Given the description of an element on the screen output the (x, y) to click on. 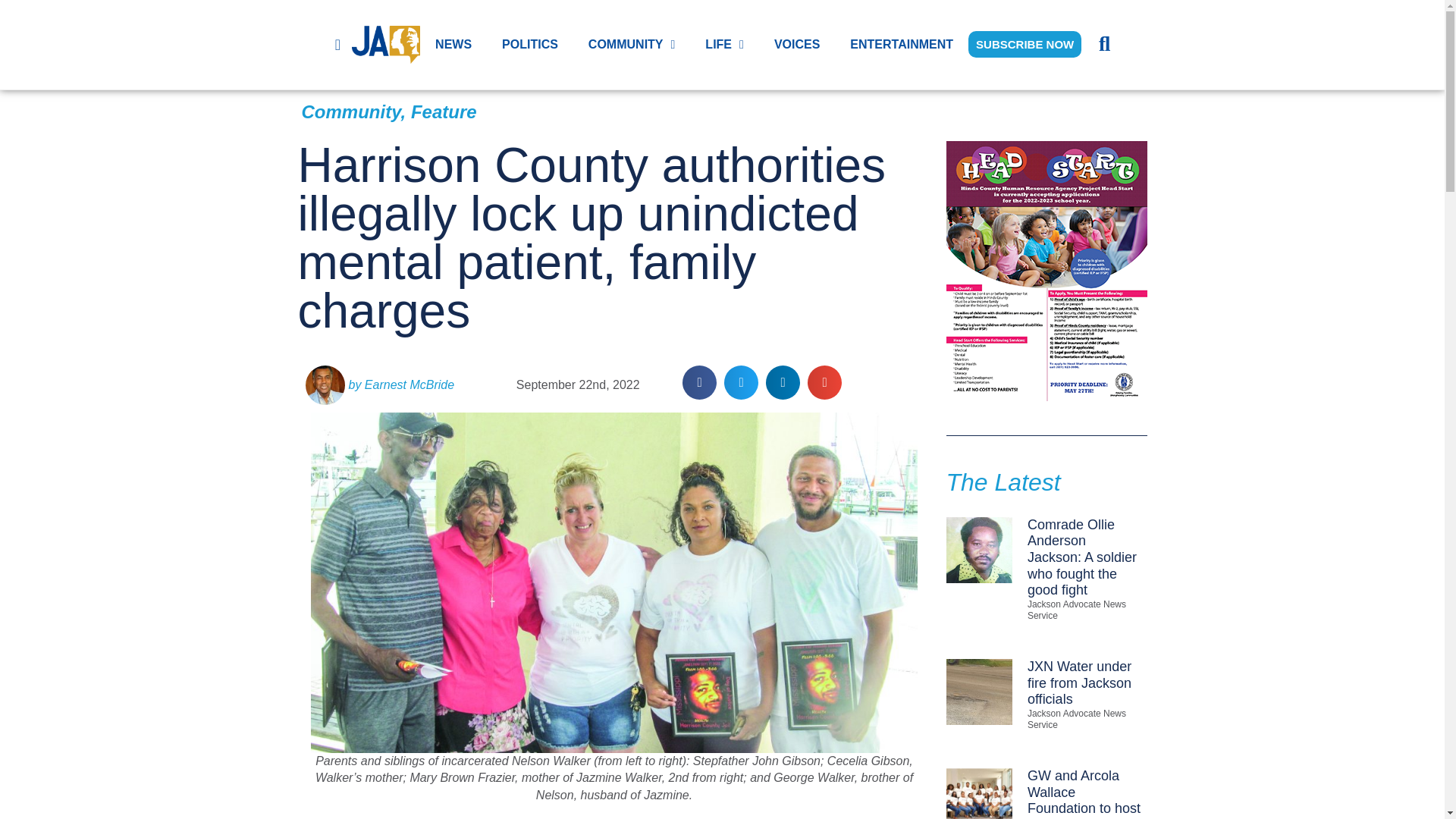
by Earnest McBride (379, 384)
COMMUNITY (631, 44)
Community (351, 111)
ENTERTAINMENT (901, 44)
VOICES (796, 44)
POLITICS (529, 44)
NEWS (453, 44)
LIFE (724, 44)
Feature (443, 111)
SUBSCRIBE NOW (1024, 44)
